Given the description of an element on the screen output the (x, y) to click on. 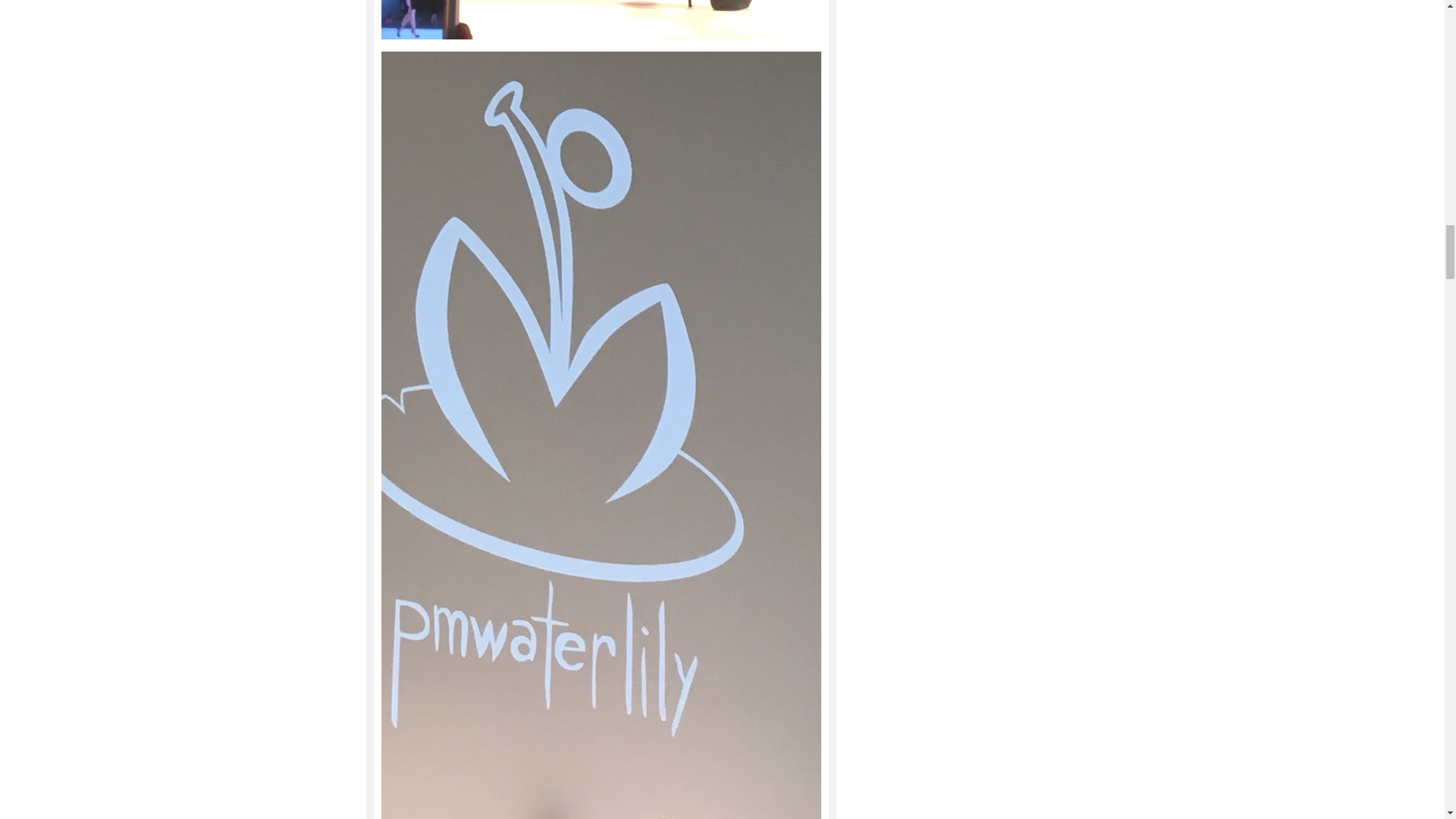
2-patricia-michaels-style-fashion-week-fringe-short (600, 19)
